Given the description of an element on the screen output the (x, y) to click on. 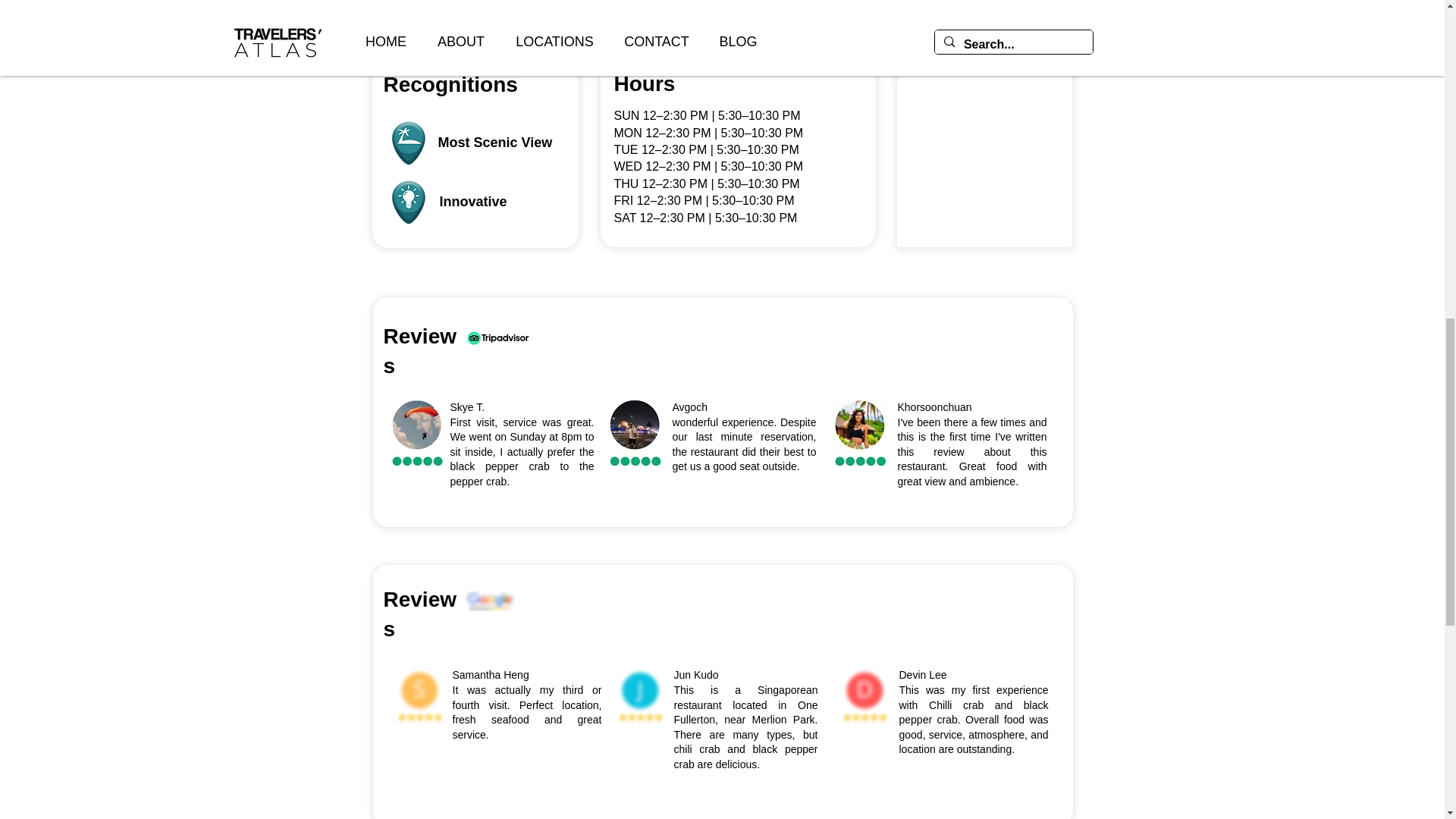
Website  (637, 28)
Creative Inovative.png (408, 201)
